Given the description of an element on the screen output the (x, y) to click on. 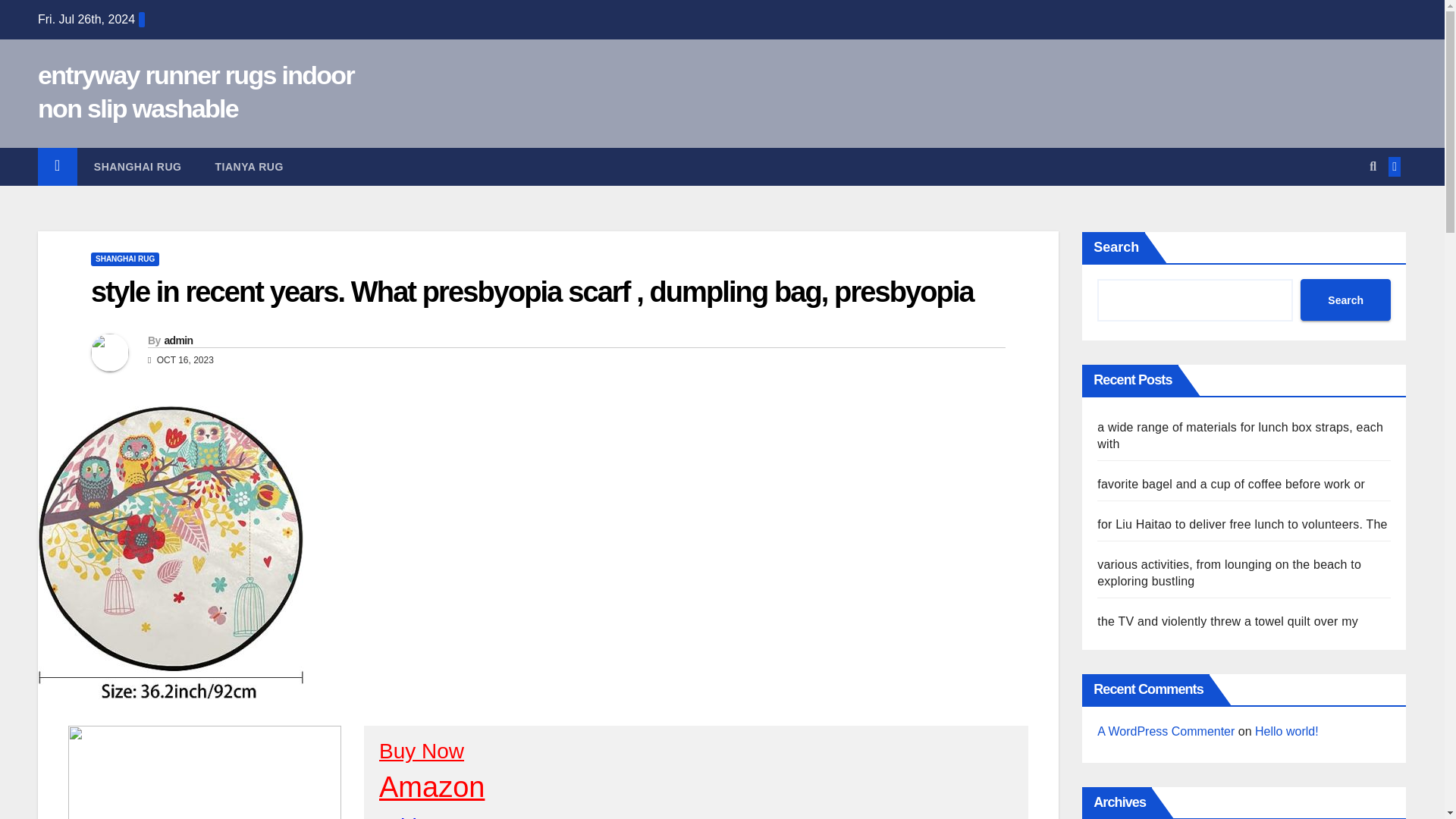
admin (177, 340)
TIANYA RUG (248, 166)
Amazon (431, 787)
Shanghai rug (137, 166)
Add to Cart (432, 816)
SHANGHAI RUG (137, 166)
Tianya rug (248, 166)
SHANGHAI RUG (124, 259)
Buy Now (421, 750)
entryway runner rugs indoor non slip washable (195, 91)
